Given the description of an element on the screen output the (x, y) to click on. 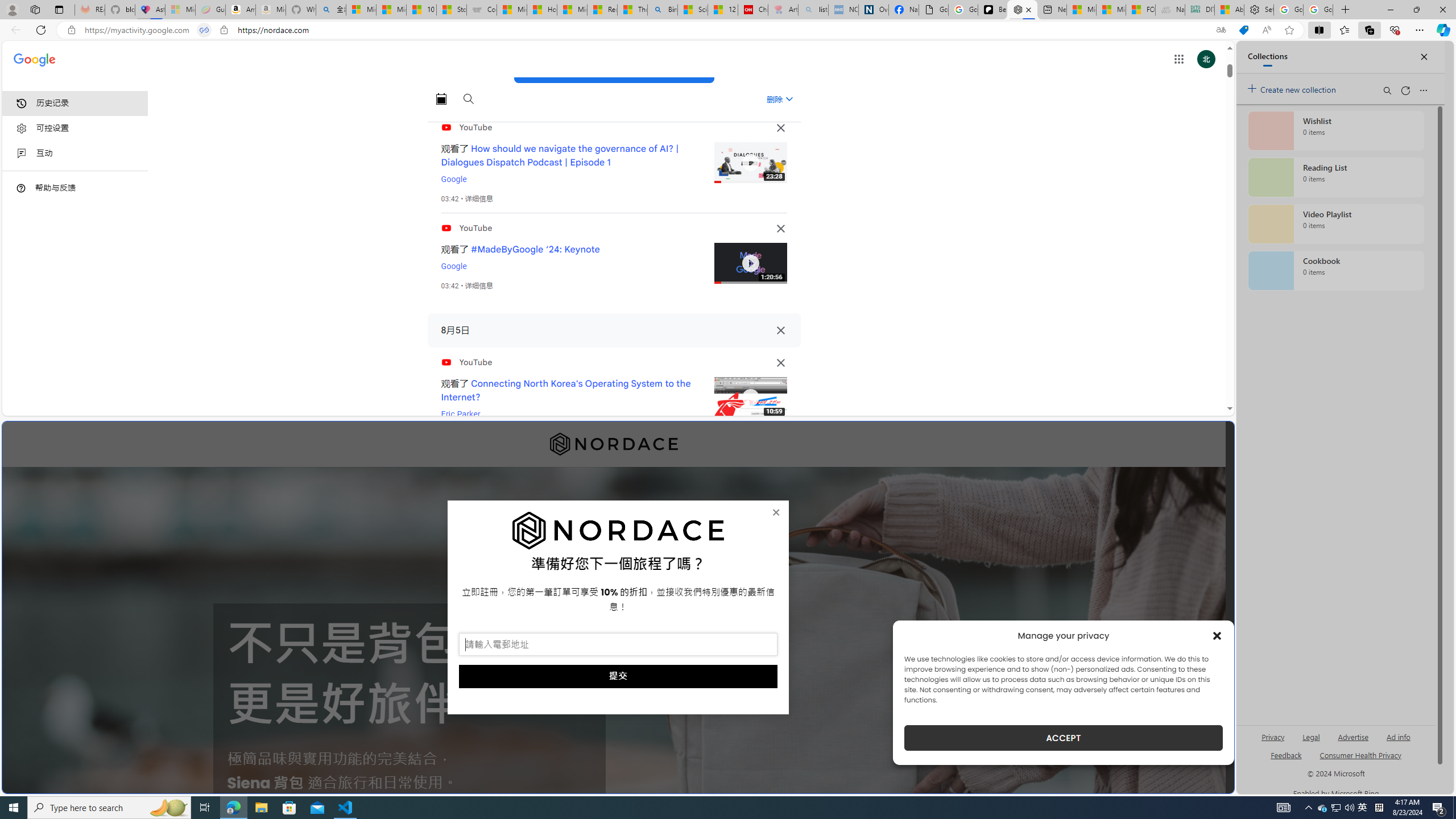
AutomationID: sb_feedback (1286, 754)
Class: DI7Mnf NMm5M (780, 330)
AutomationID: field_5_1 (617, 645)
Class: IVR0f NMm5M (750, 397)
